Given the description of an element on the screen output the (x, y) to click on. 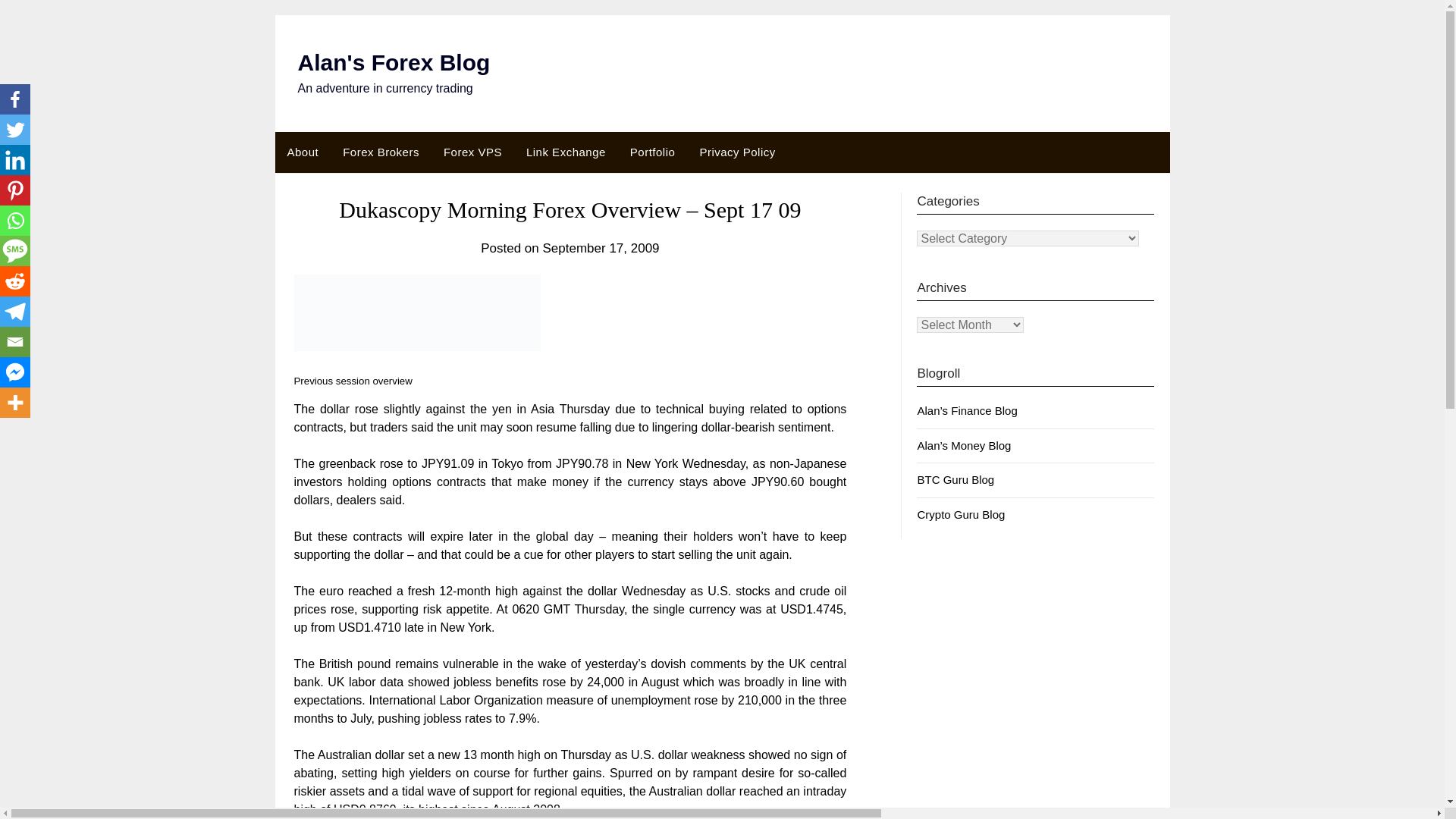
Portfolio (652, 151)
Alan's Forex Blog (393, 62)
Forex Brokers (380, 151)
Facebook (15, 99)
Twitter (15, 129)
Privacy Policy (737, 151)
Link Exchange (565, 151)
BTC Guru Blog (955, 479)
Linkedin (15, 159)
Forex VPS (471, 151)
About (302, 151)
Crypto Guru Blog (960, 513)
